Given the description of an element on the screen output the (x, y) to click on. 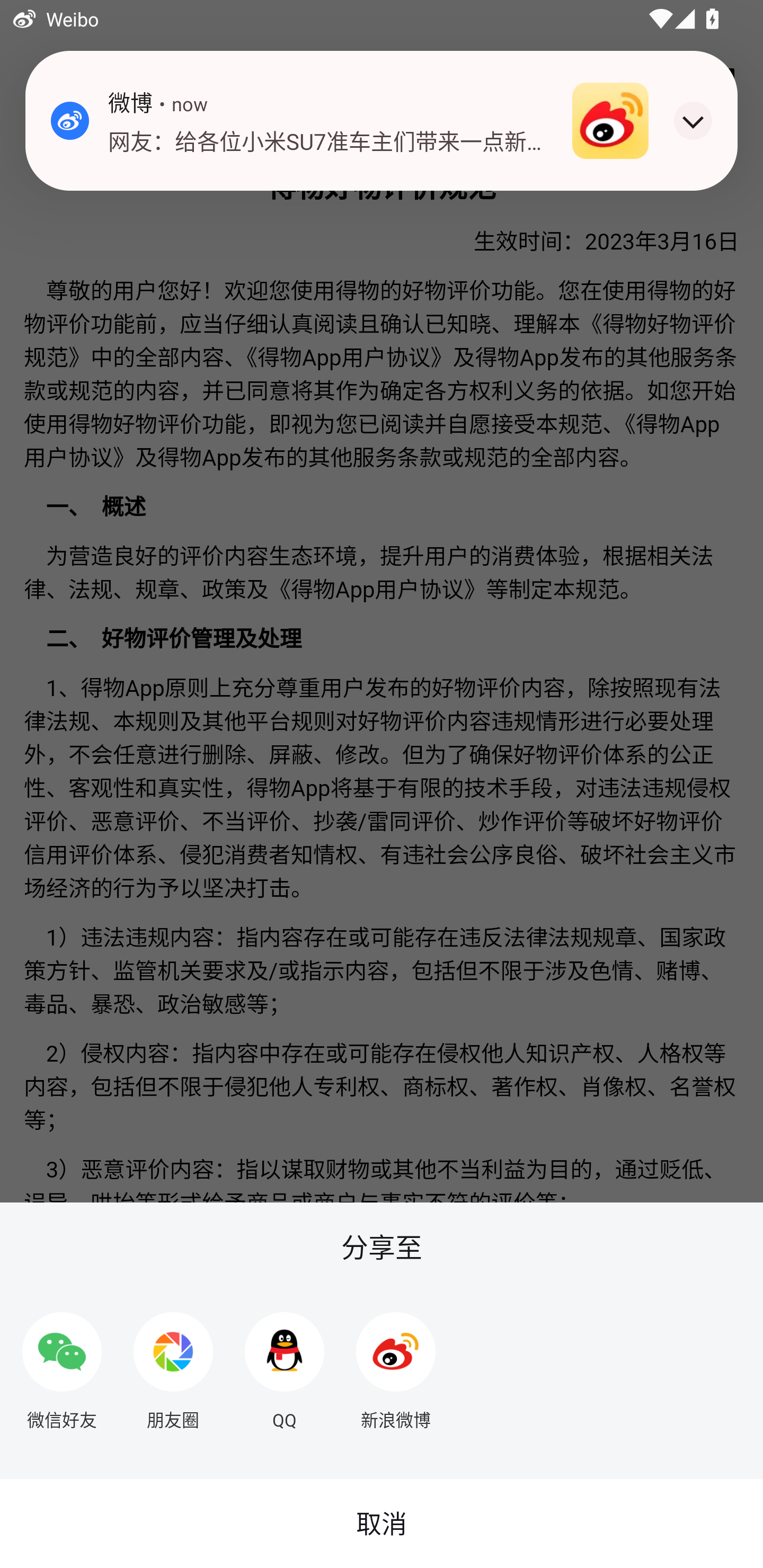
微信好友 (61, 1363)
朋友圈 (172, 1363)
QQ (284, 1363)
新浪微博 (395, 1363)
取消 (381, 1523)
